Given the description of an element on the screen output the (x, y) to click on. 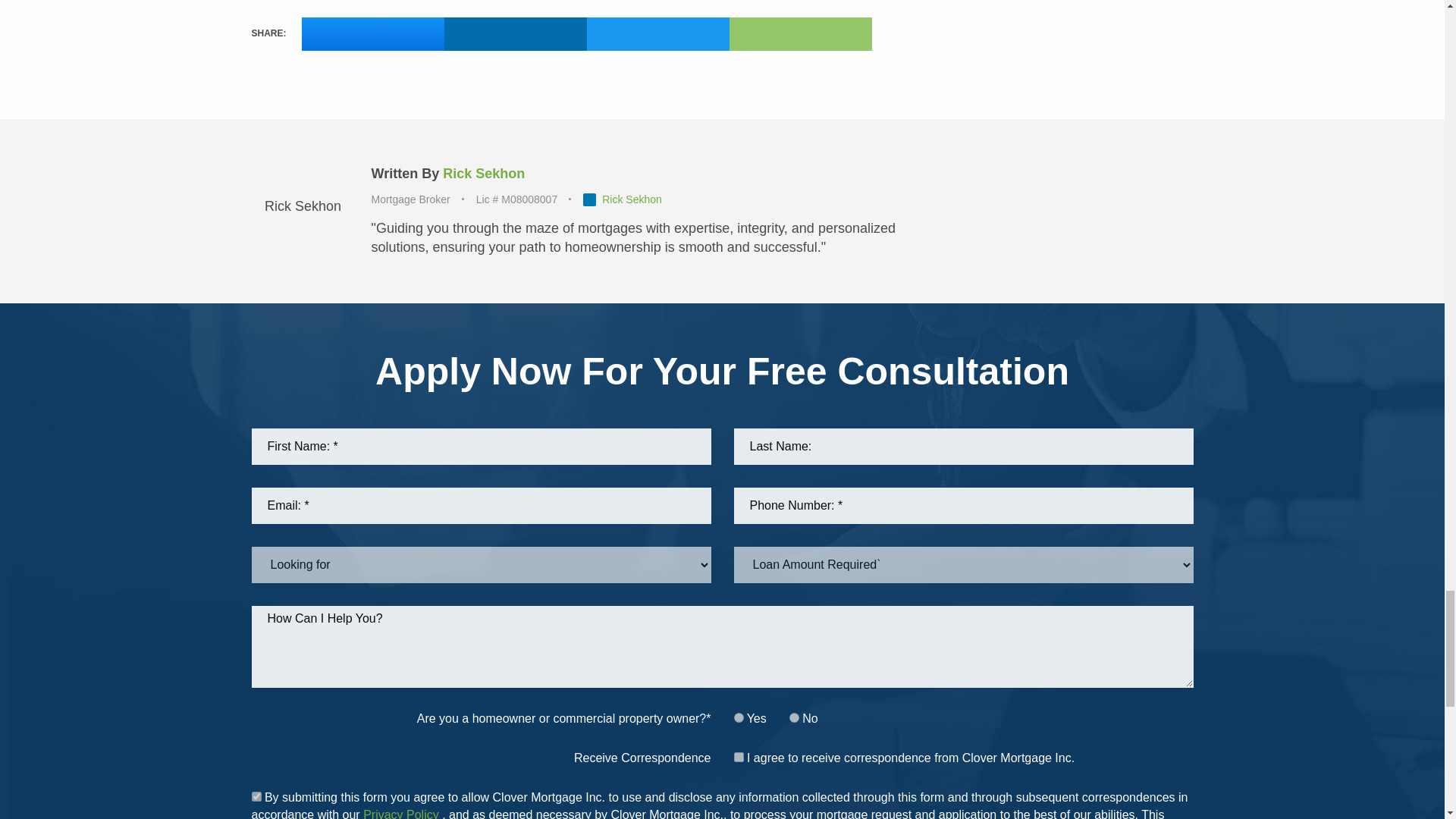
No (794, 717)
Yes (256, 796)
Yes (738, 717)
Yes (738, 757)
